Given the description of an element on the screen output the (x, y) to click on. 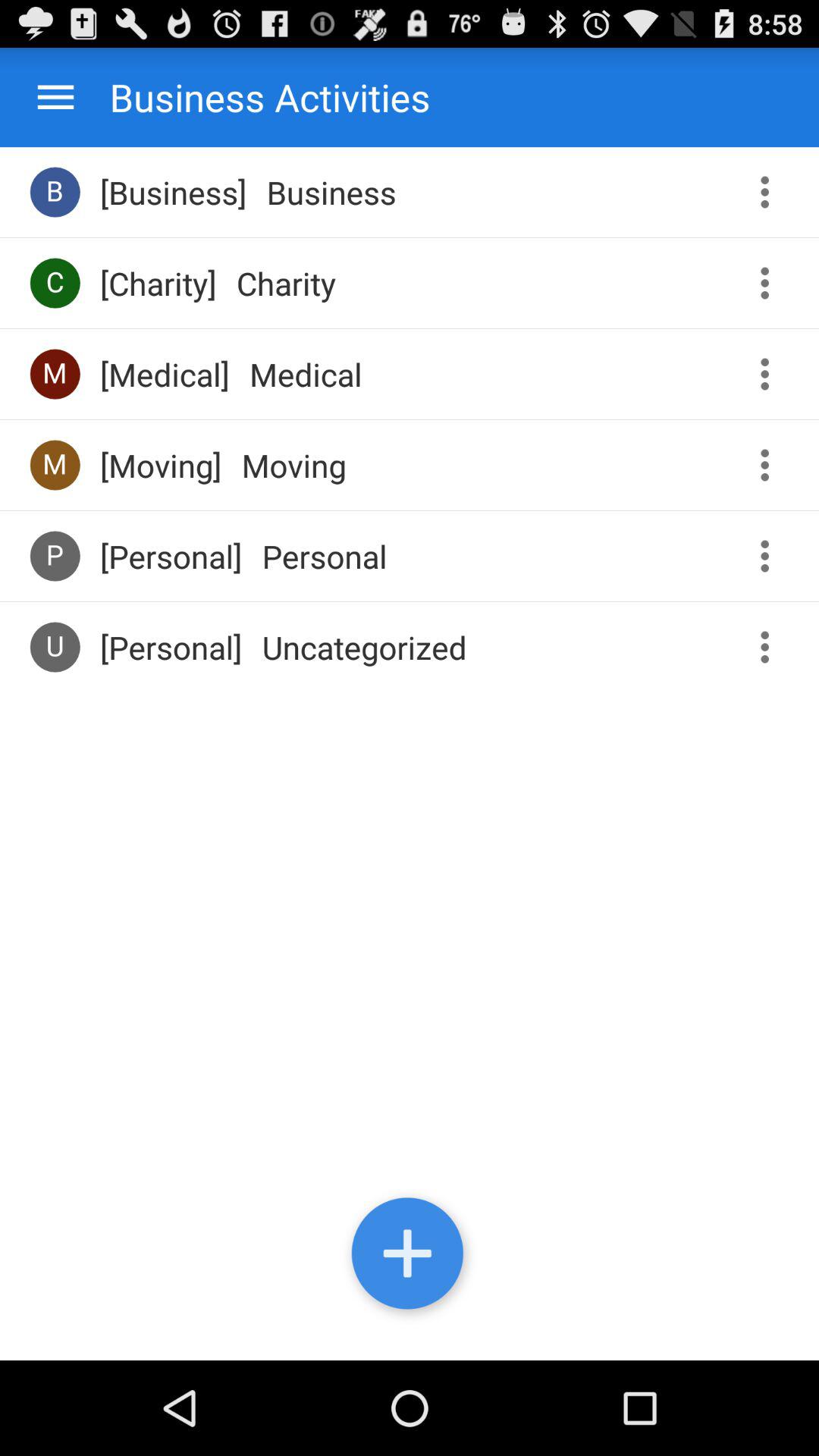
change setting of uncategorized business activity (770, 647)
